Given the description of an element on the screen output the (x, y) to click on. 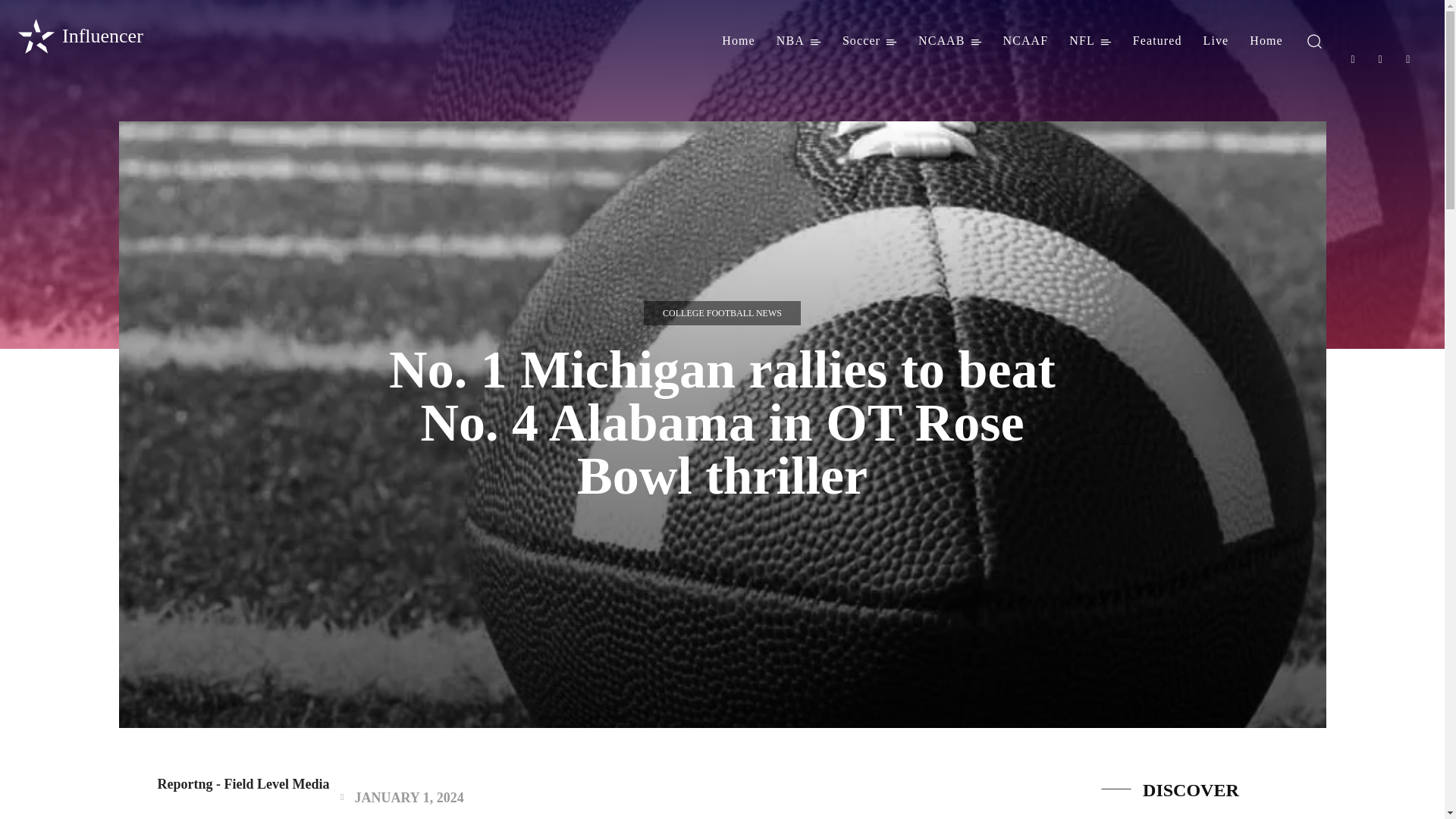
Reportng - Field Level Media (135, 784)
Influencer (78, 36)
Twitter (1408, 58)
Home (738, 40)
Instagram (1380, 58)
Facebook (1353, 58)
NBA (798, 40)
